Given the description of an element on the screen output the (x, y) to click on. 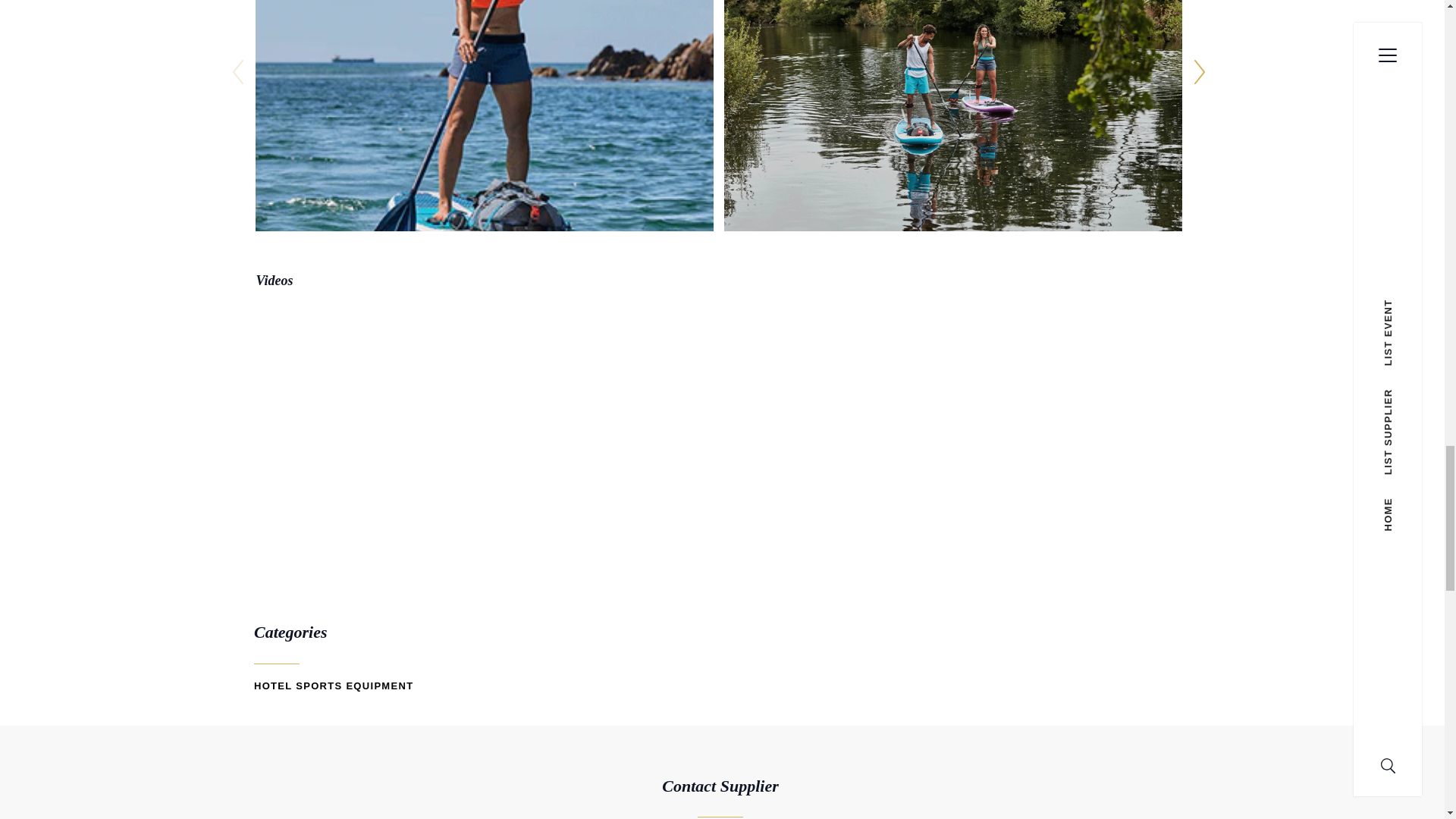
15 years of Red Paddle Co (951, 434)
HOTEL SPORTS EQUIPMENT (333, 685)
NEVER COMPROMISE (483, 434)
